Given the description of an element on the screen output the (x, y) to click on. 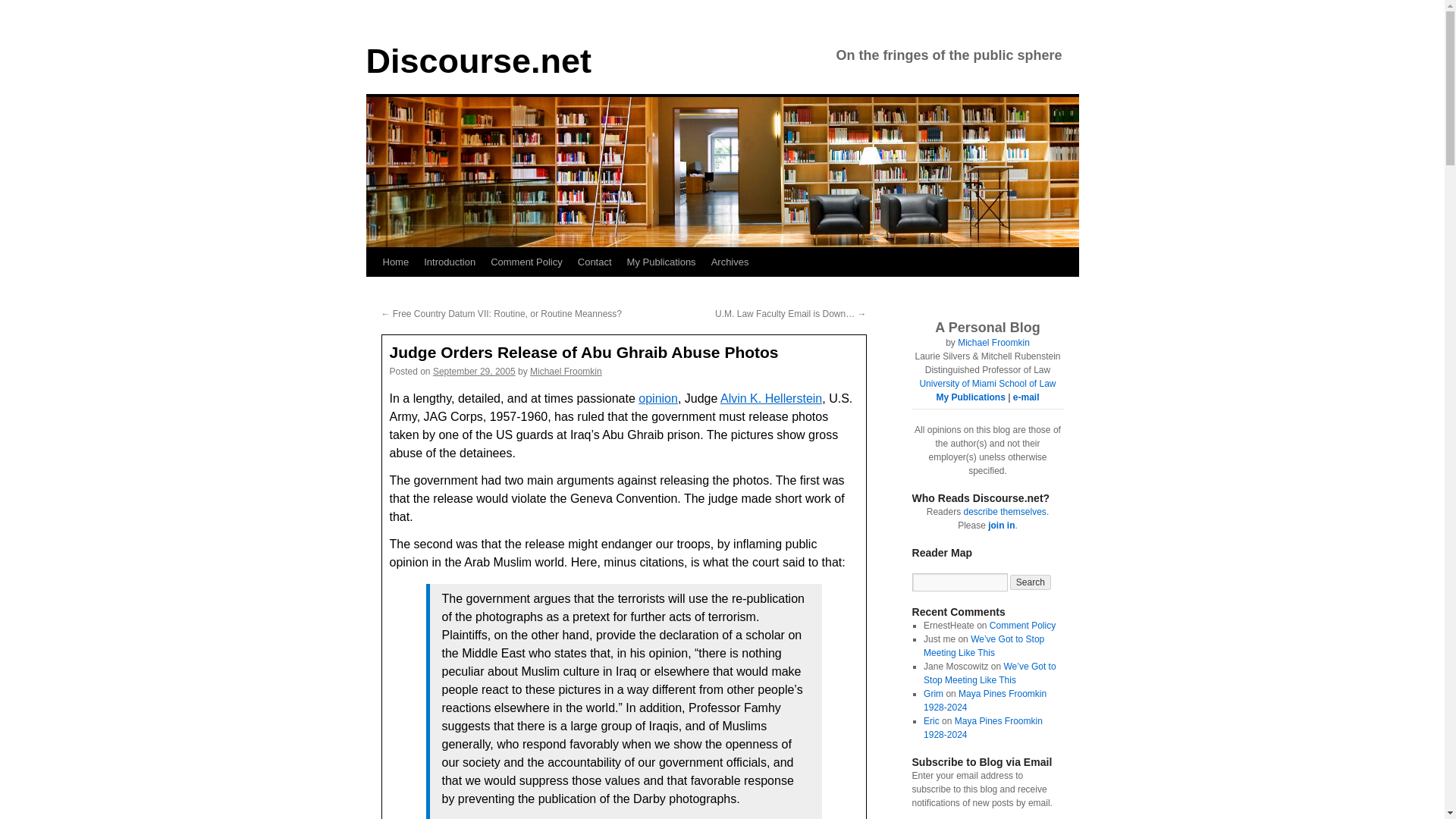
Most are available online (970, 397)
Archives (730, 262)
Grim (933, 693)
Introduction (449, 262)
Discourse.net (478, 60)
instructions on how to deduce my email (1026, 397)
Michael Froomkin (993, 342)
My homepage (993, 342)
Maya Pines Froomkin 1928-2024 (984, 700)
Alvin K. Hellerstein (771, 398)
